Given the description of an element on the screen output the (x, y) to click on. 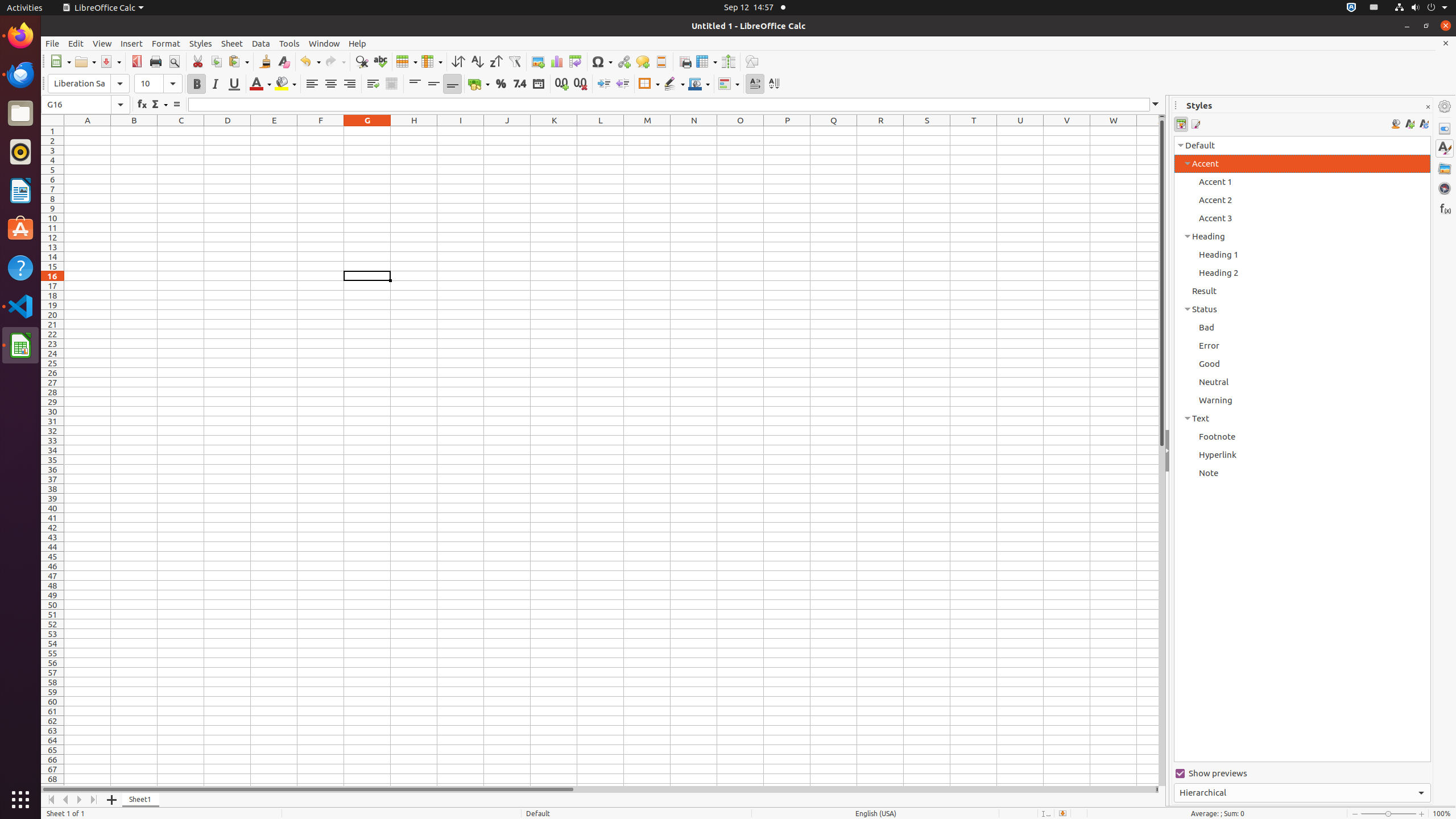
Italic Element type: toggle-button (214, 83)
Expand Formula Bar Element type: push-button (1155, 104)
Close Sidebar Deck Element type: push-button (1427, 106)
Save Element type: push-button (109, 61)
U1 Element type: table-cell (1020, 130)
